Given the description of an element on the screen output the (x, y) to click on. 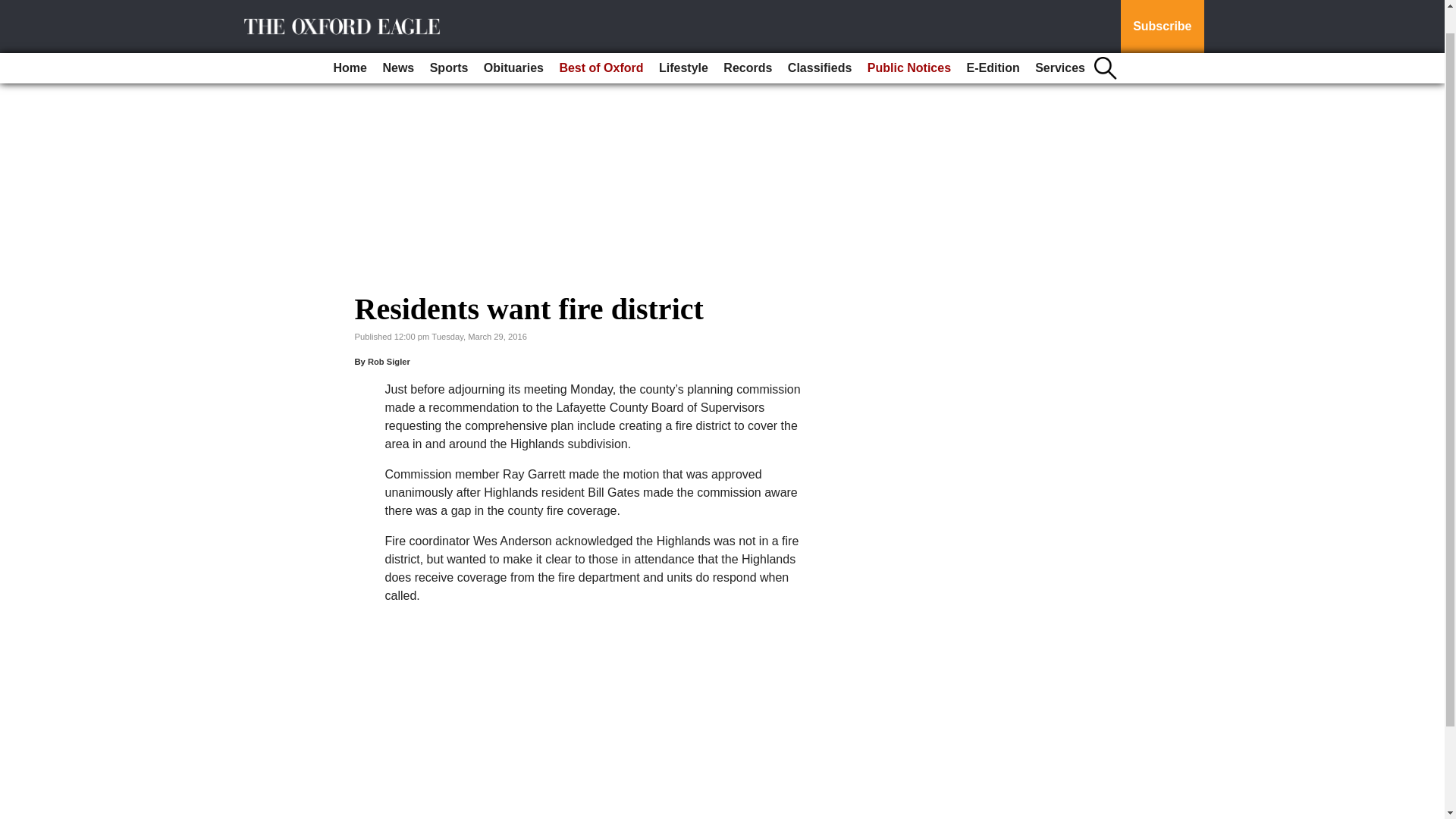
Best of Oxford (601, 41)
Classifieds (819, 41)
Obituaries (513, 41)
Subscribe (1162, 13)
E-Edition (992, 41)
Home (349, 41)
Public Notices (908, 41)
Lifestyle (683, 41)
Services (1059, 41)
Rob Sigler (389, 361)
